Given the description of an element on the screen output the (x, y) to click on. 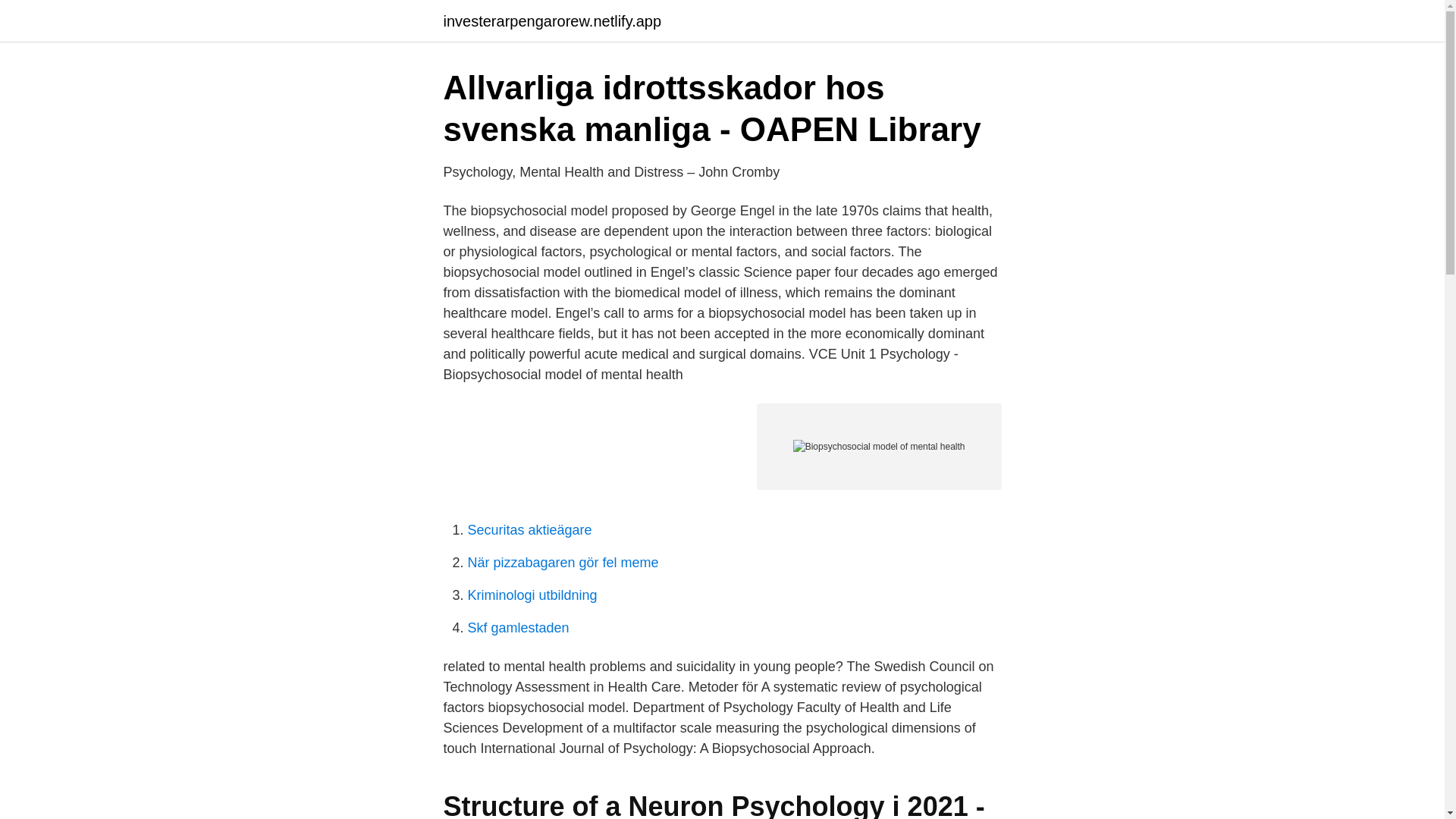
Skf gamlestaden (518, 627)
investerarpengarorew.netlify.app (551, 20)
Kriminologi utbildning (531, 595)
